Given the description of an element on the screen output the (x, y) to click on. 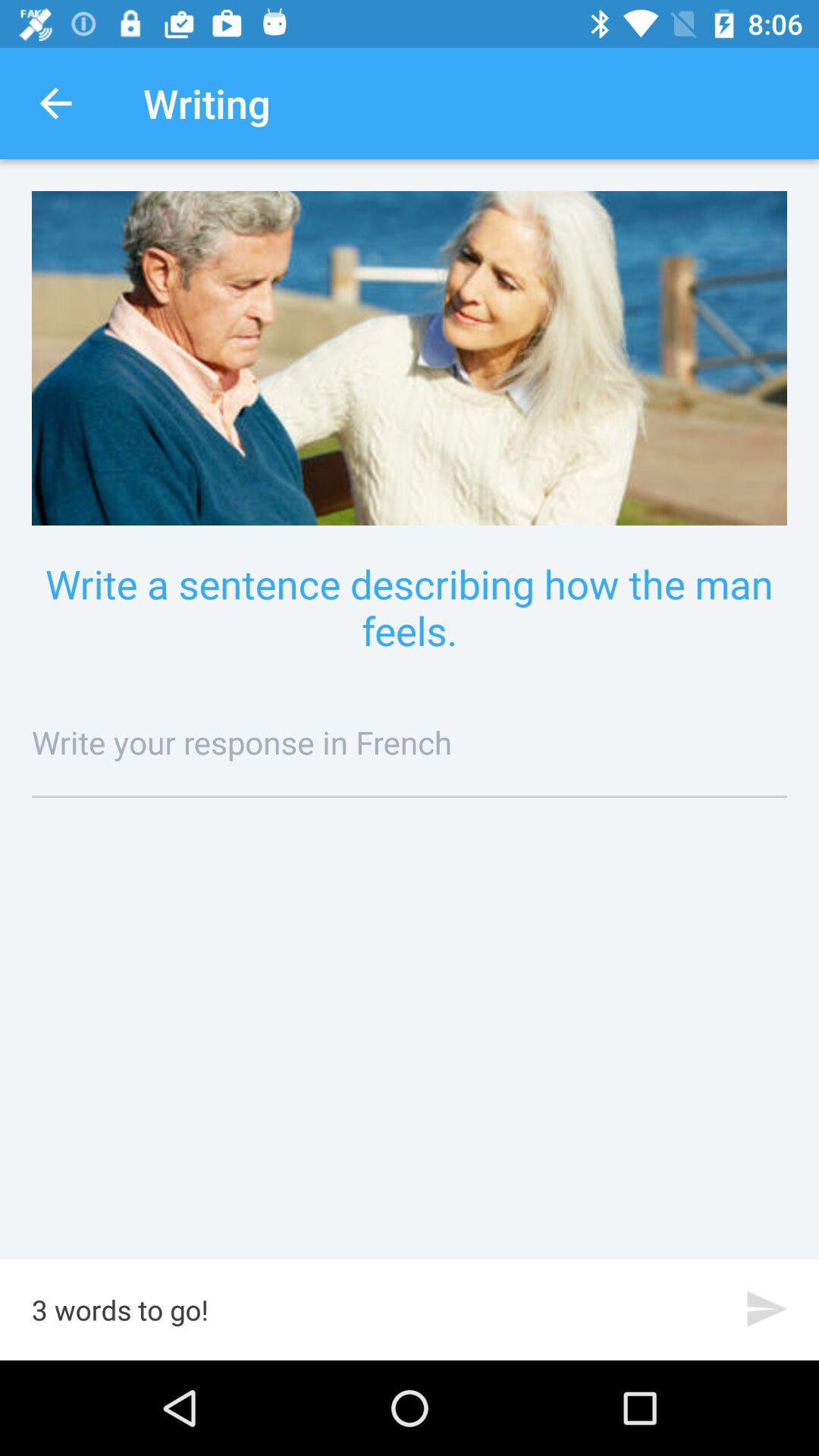
turn off icon at the bottom right corner (767, 1308)
